Given the description of an element on the screen output the (x, y) to click on. 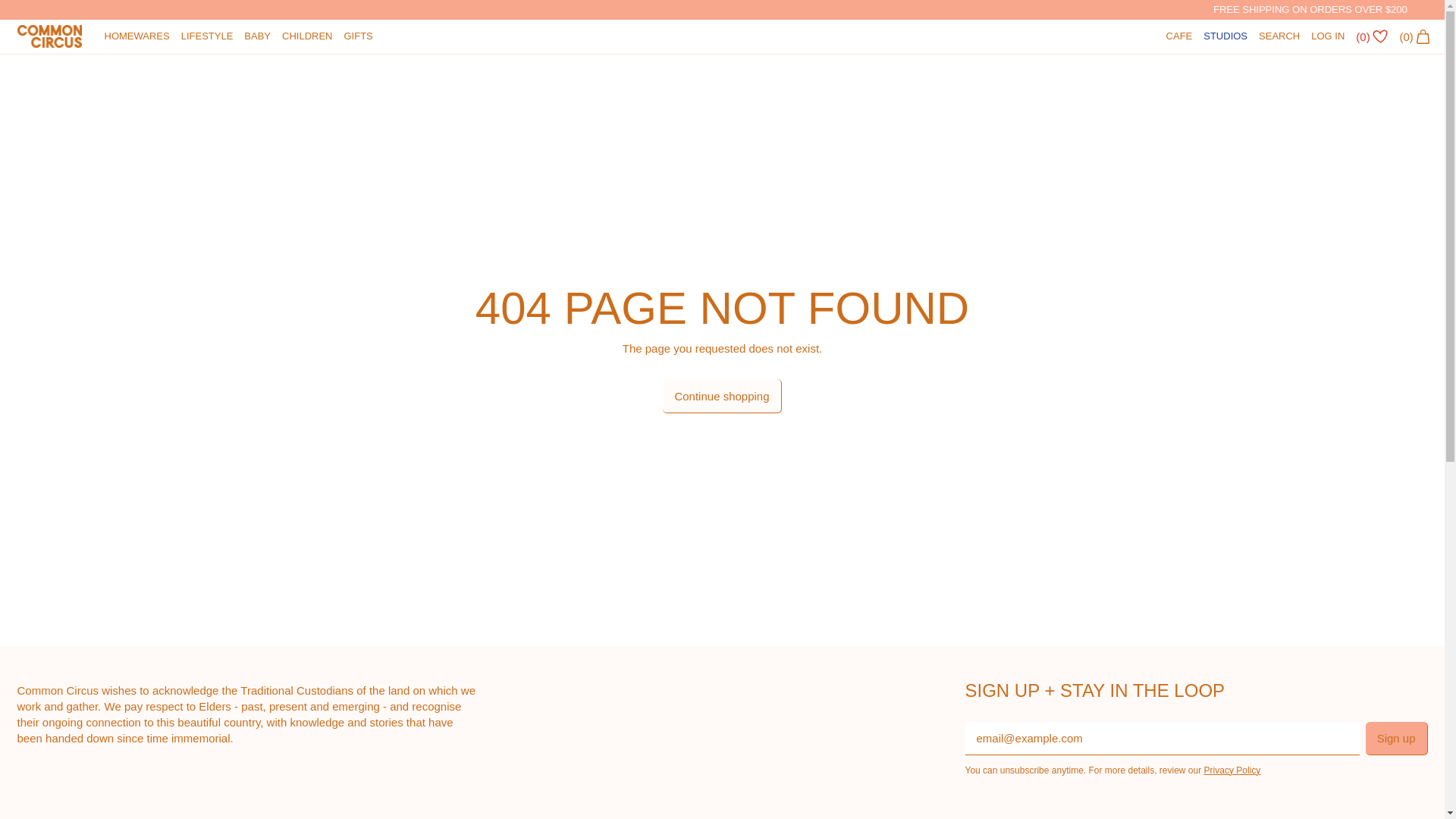
Privacy Policy (1232, 769)
HOMEWARES (136, 36)
